Given the description of an element on the screen output the (x, y) to click on. 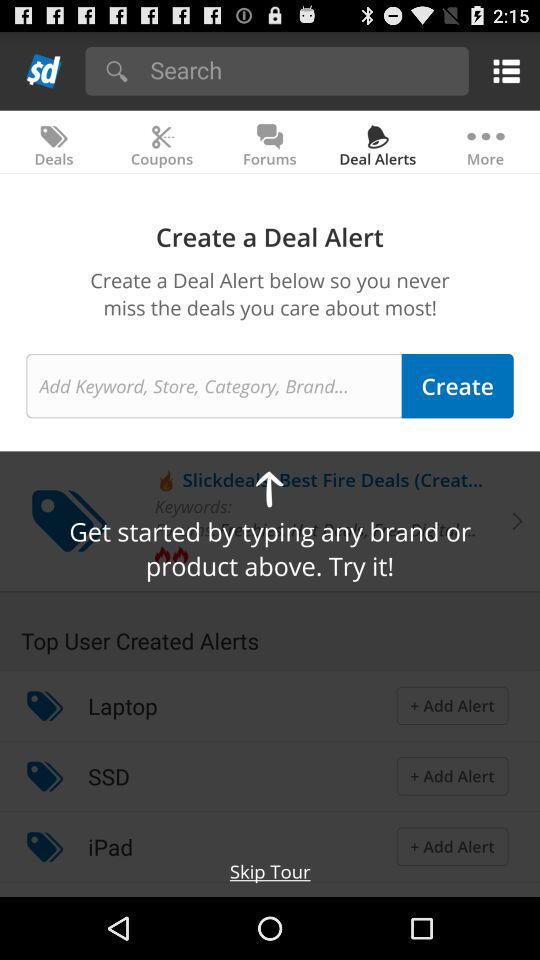
select the app to the right of the forums: app (352, 529)
